Given the description of an element on the screen output the (x, y) to click on. 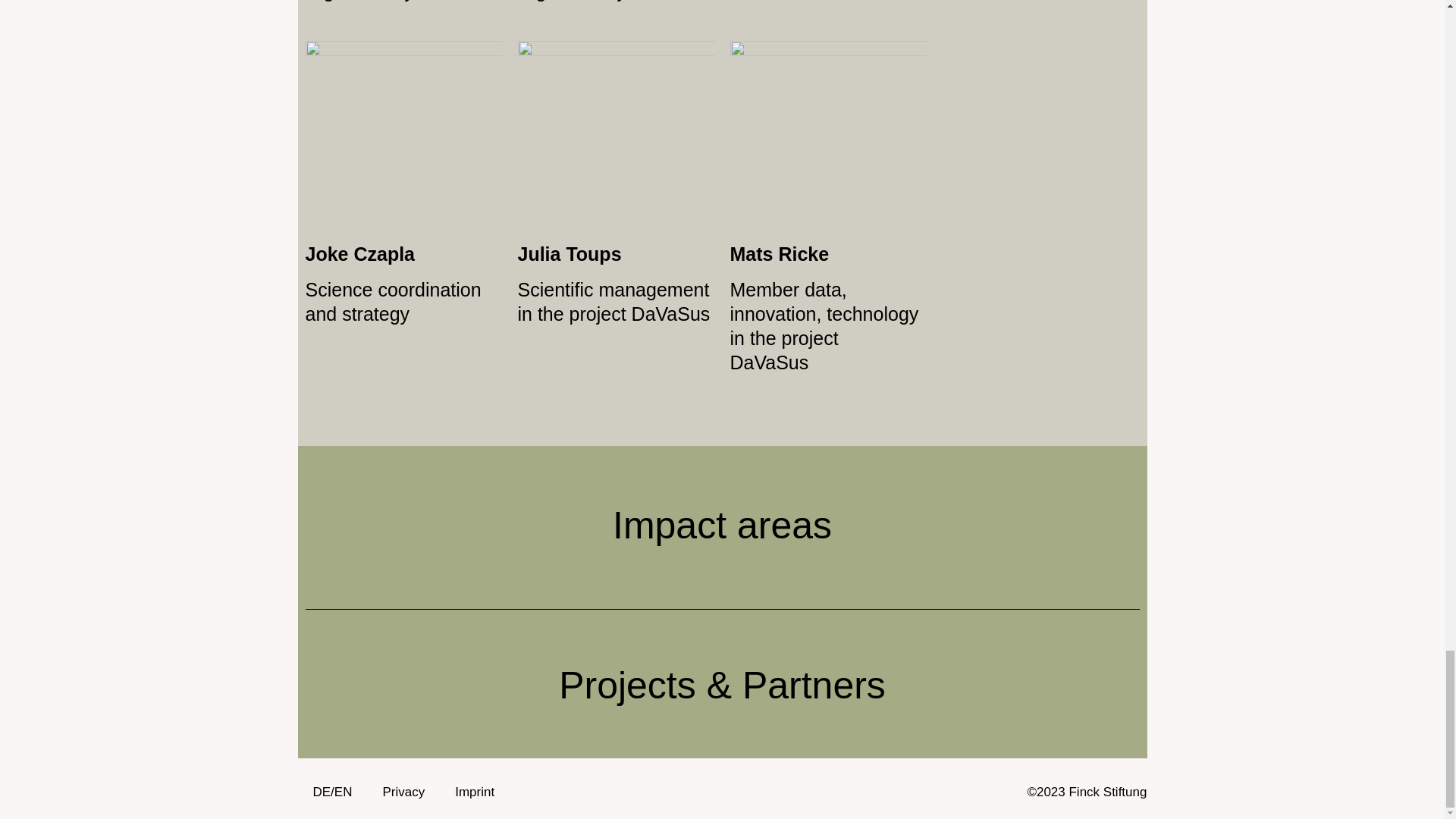
Privacy (402, 792)
Impact areas (721, 525)
Imprint (474, 792)
